Given the description of an element on the screen output the (x, y) to click on. 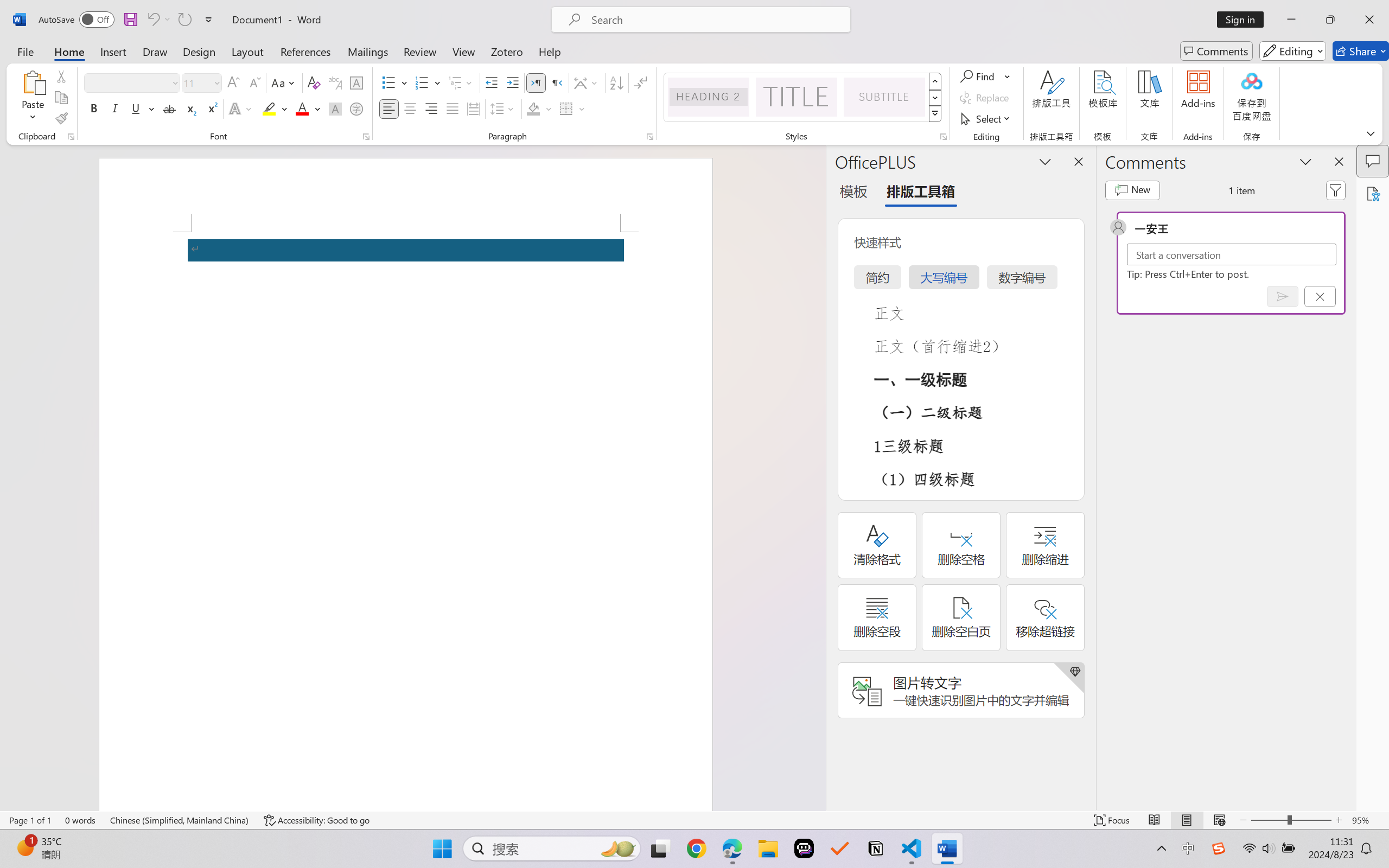
Undo Apply Quick Style Set (158, 19)
Start a conversation (1231, 254)
Filter (1335, 190)
